Given the description of an element on the screen output the (x, y) to click on. 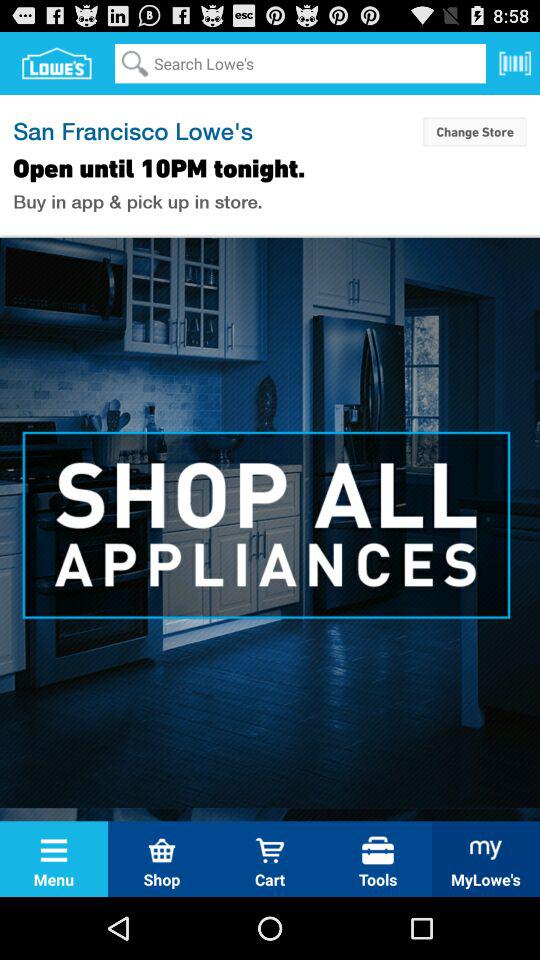
select the change store (474, 131)
click on the cart icon (269, 850)
click on the basket symbol above the shop (161, 850)
select the text field at the top (300, 63)
